Given the description of an element on the screen output the (x, y) to click on. 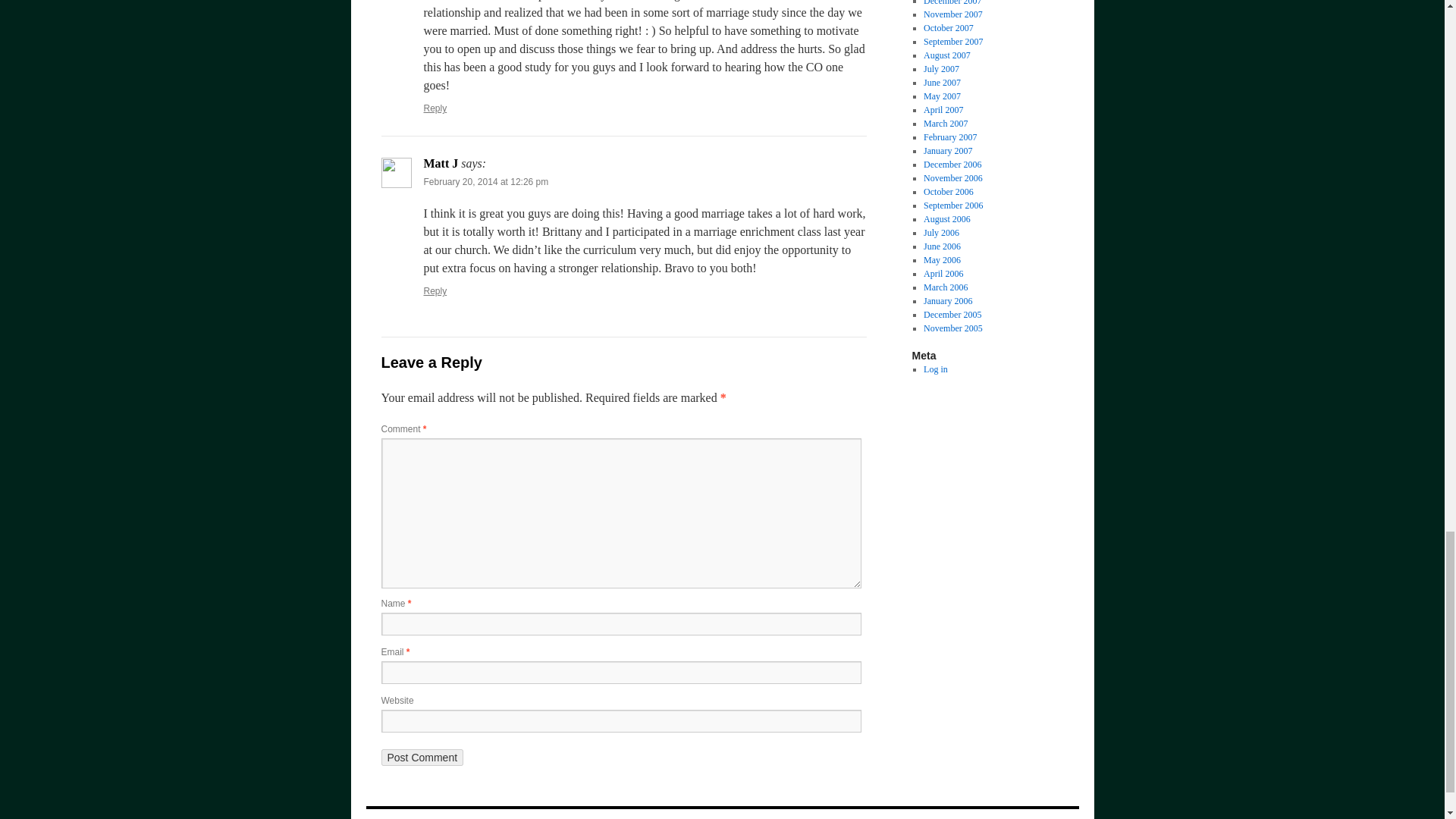
Reply (434, 108)
Reply (434, 290)
Post Comment (421, 757)
Post Comment (421, 757)
February 20, 2014 at 12:26 pm (485, 181)
